Given the description of an element on the screen output the (x, y) to click on. 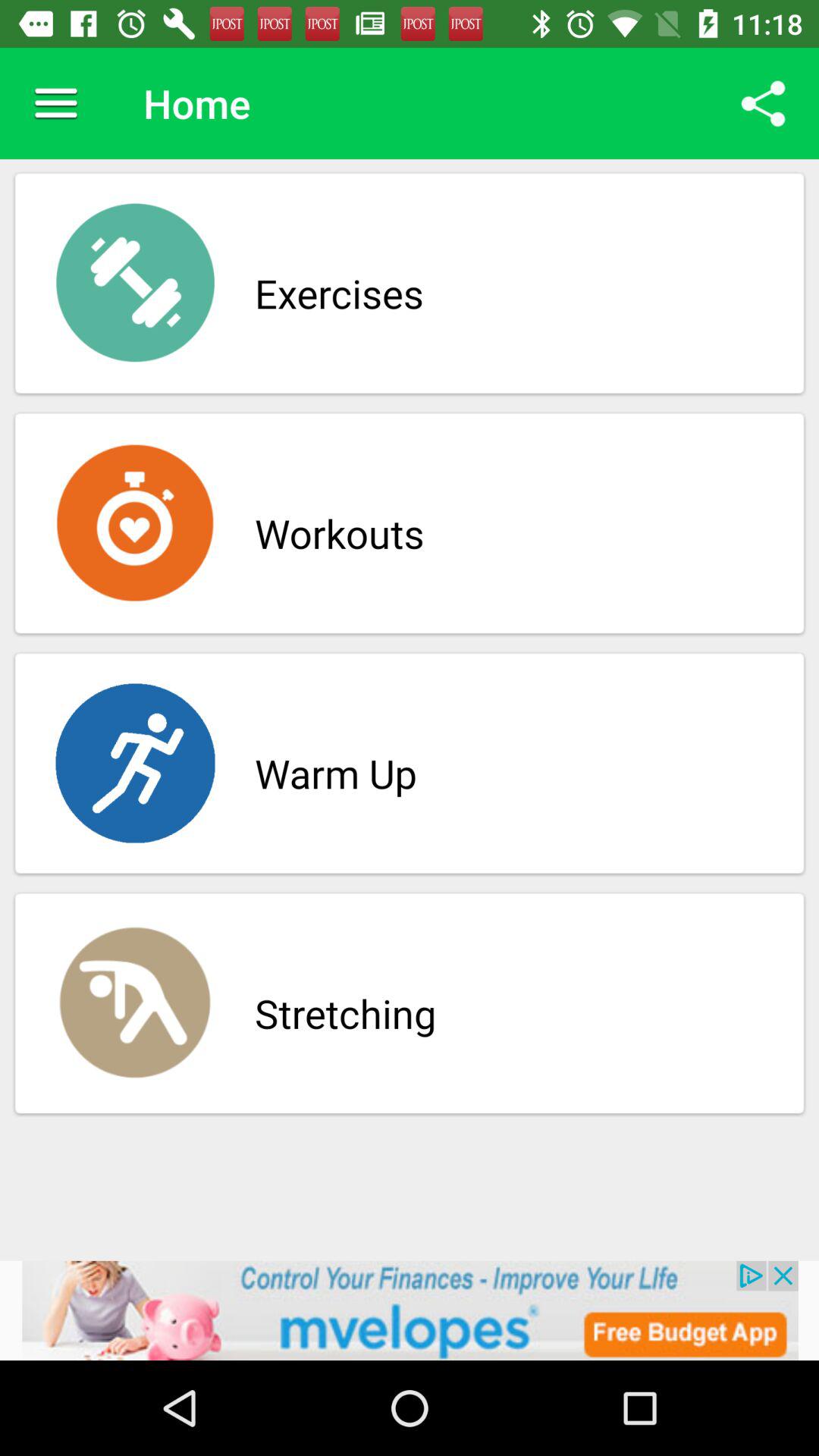
click on advertisement (409, 1310)
